Given the description of an element on the screen output the (x, y) to click on. 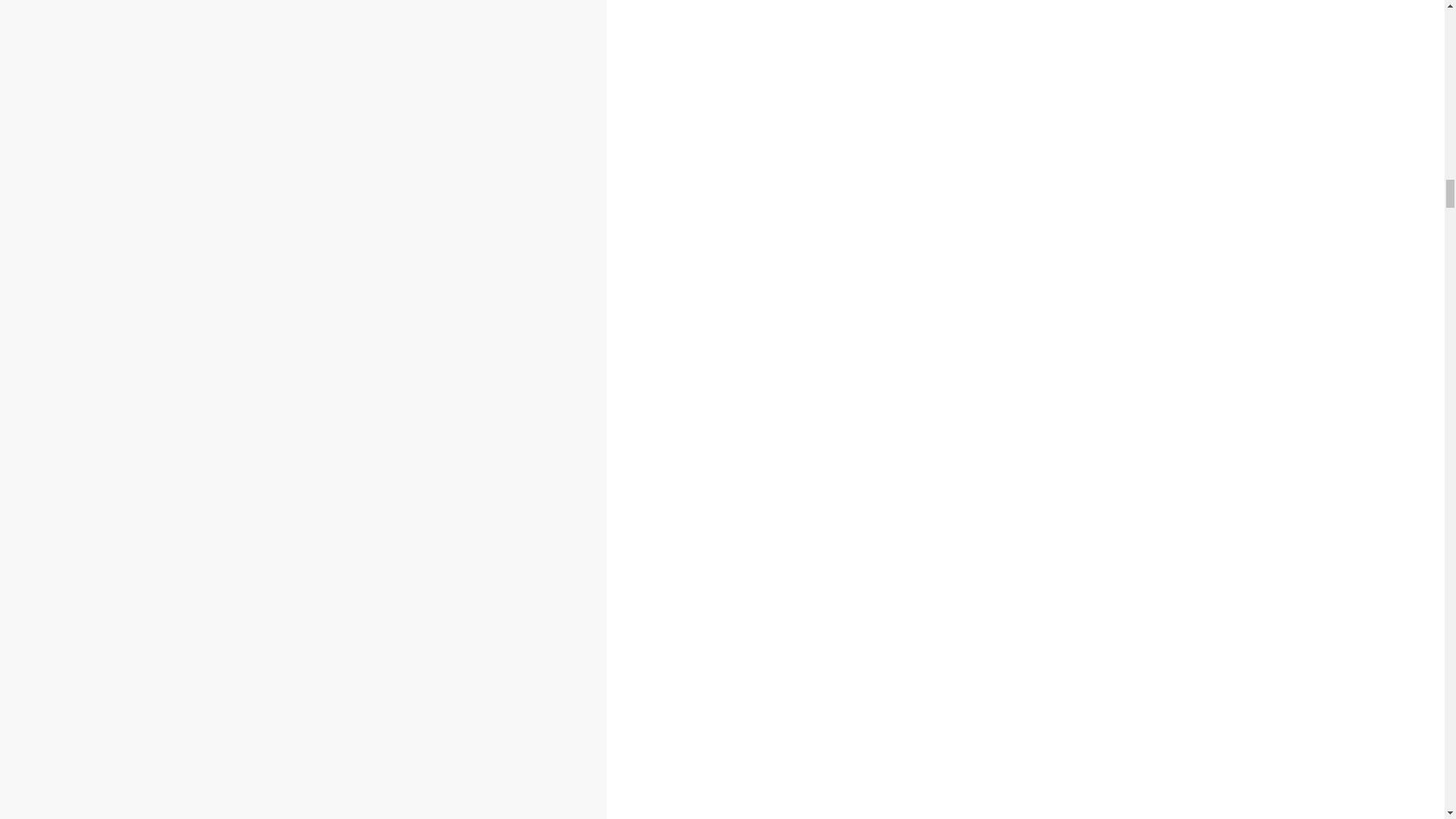
Martienarichter (201, 438)
What You Should Know About Akun Demo Slot (191, 407)
Gambling (85, 368)
